Given the description of an element on the screen output the (x, y) to click on. 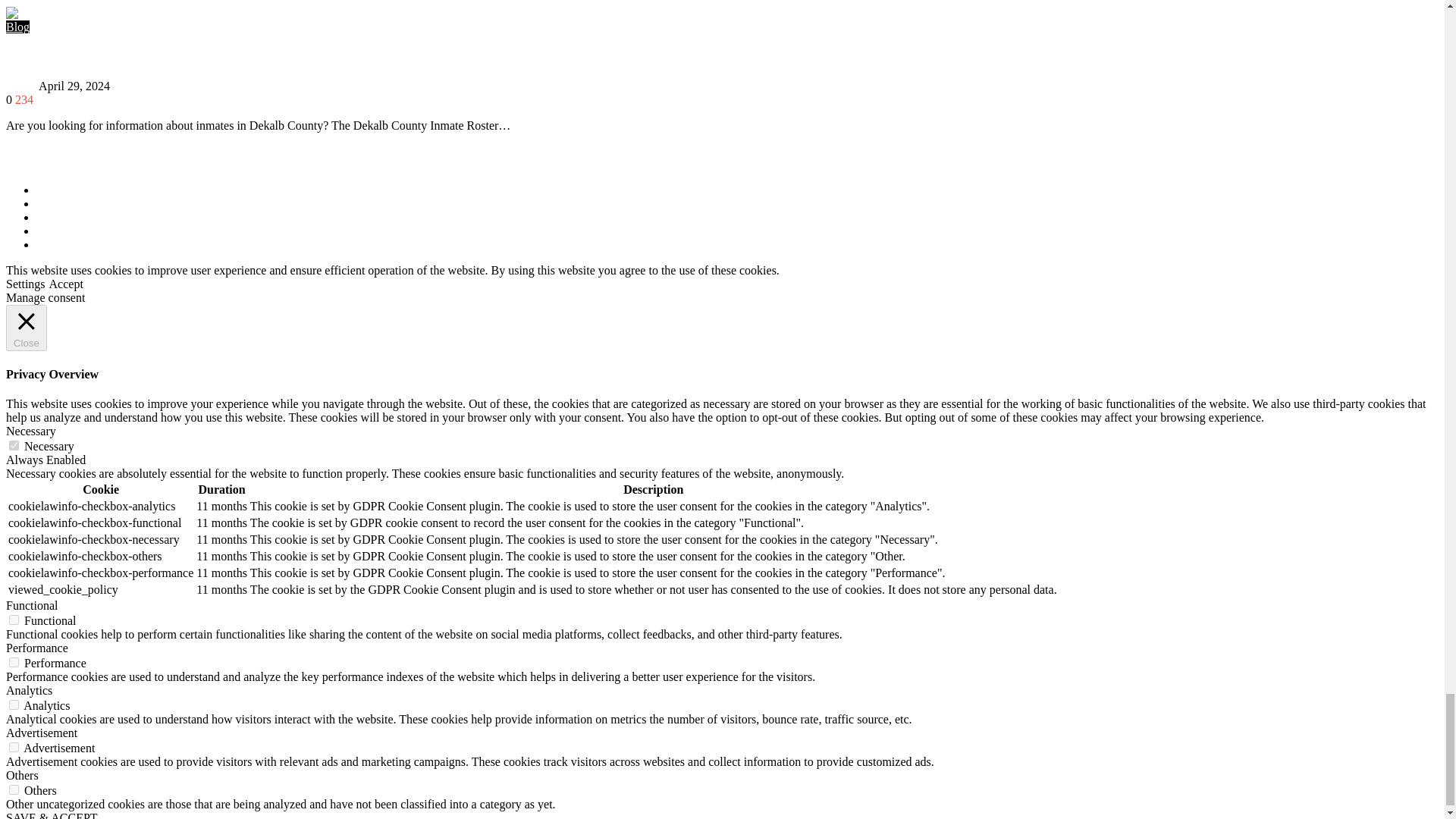
on (13, 705)
on (13, 789)
on (13, 619)
on (13, 747)
on (13, 445)
on (13, 662)
